Given the description of an element on the screen output the (x, y) to click on. 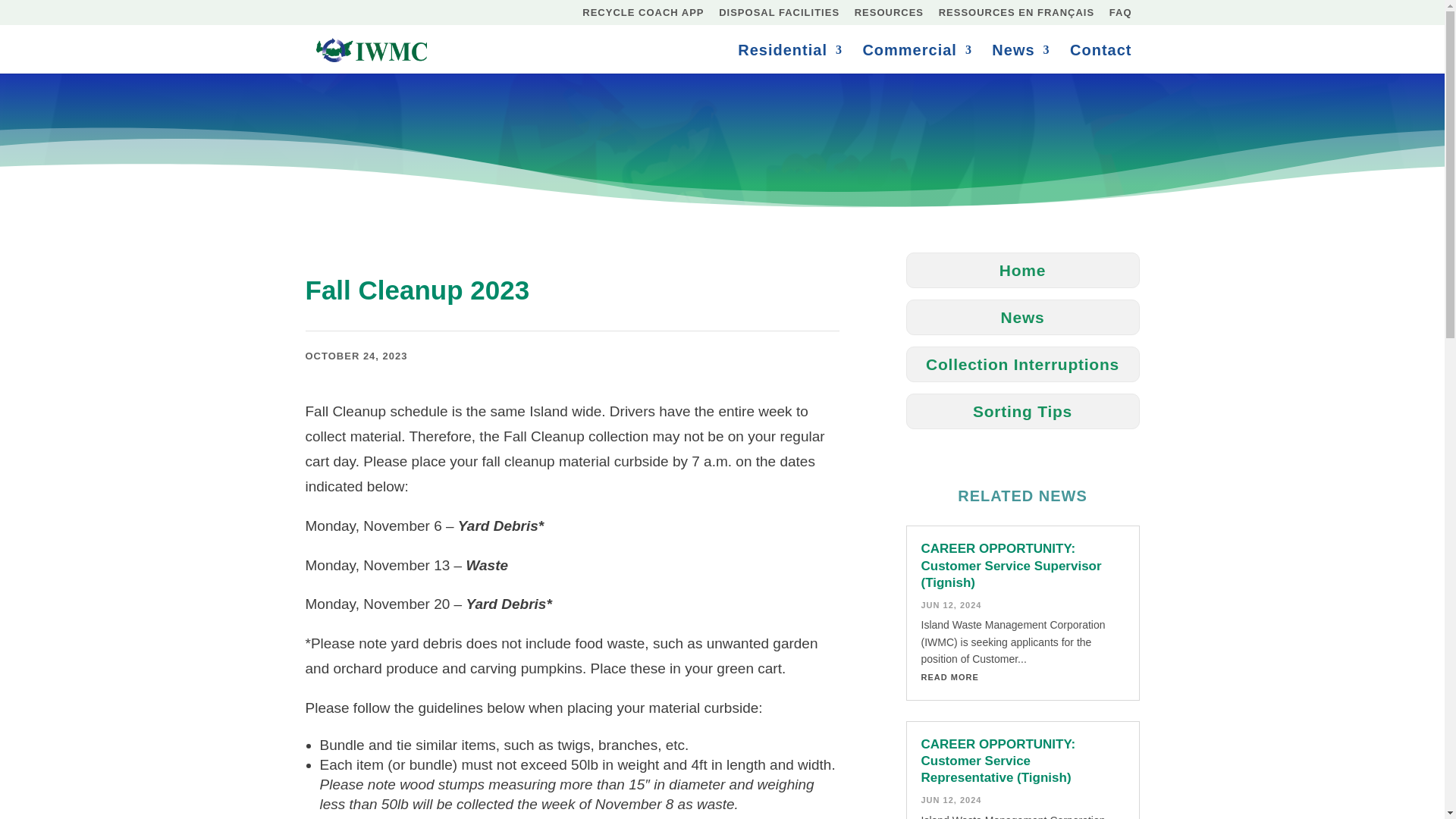
DISPOSAL FACILITIES (779, 16)
Commercial (916, 59)
Contact (1100, 59)
News (1020, 59)
RESOURCES (888, 16)
RECYCLE COACH APP (642, 16)
FAQ (1120, 16)
Residential (790, 59)
